Given the description of an element on the screen output the (x, y) to click on. 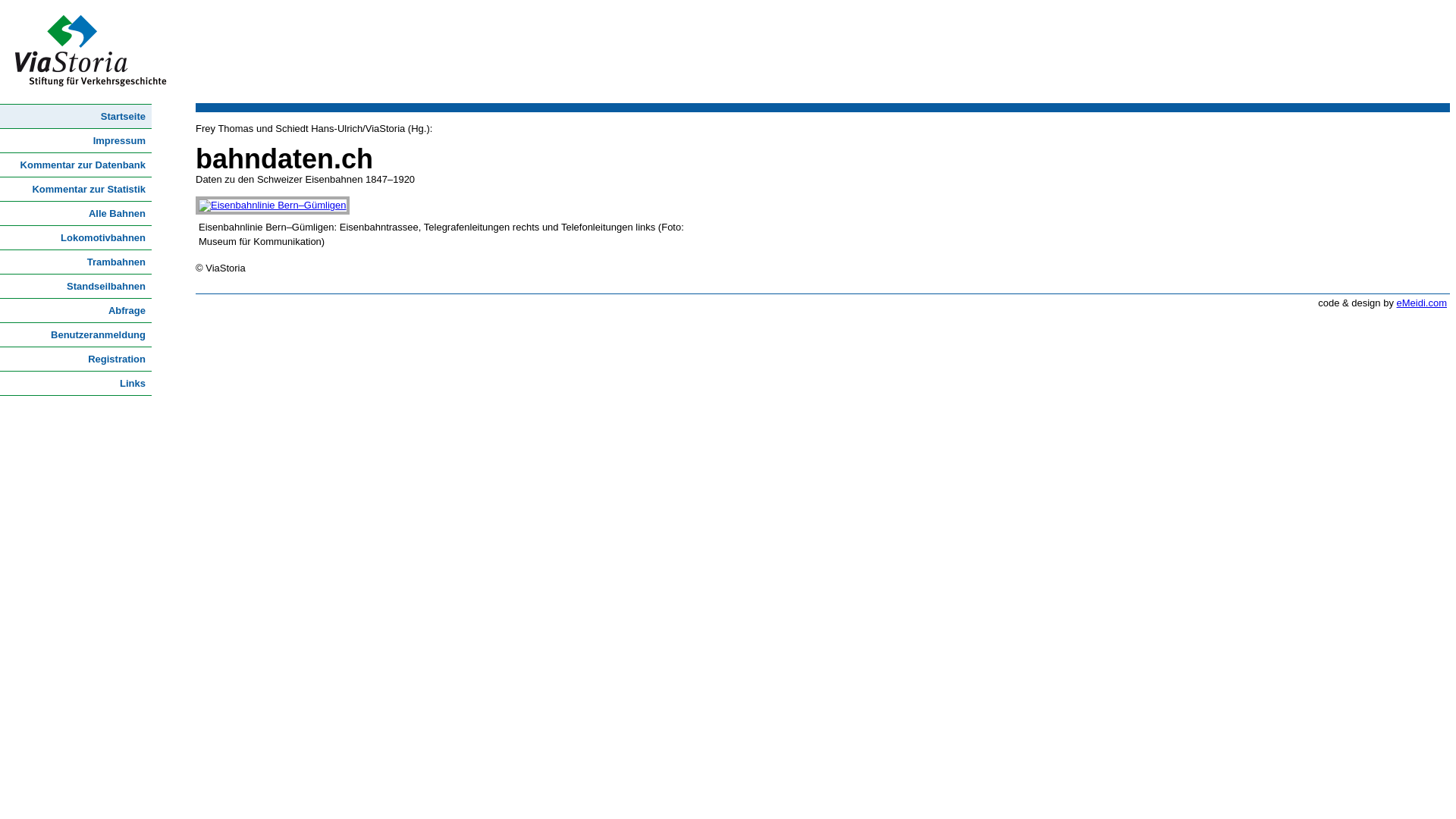
Abfrage Element type: text (75, 310)
Links Element type: text (75, 383)
Alle Bahnen Element type: text (75, 213)
Startseite Element type: text (75, 116)
eMeidi.com Element type: text (1421, 302)
Kommentar zur Datenbank Element type: text (75, 164)
Lokomotivbahnen Element type: text (75, 237)
Kommentar zur Statistik Element type: text (75, 188)
Registration Element type: text (75, 358)
Standseilbahnen Element type: text (75, 286)
Benutzeranmeldung Element type: text (75, 334)
Trambahnen Element type: text (75, 261)
Impressum Element type: text (75, 140)
